Given the description of an element on the screen output the (x, y) to click on. 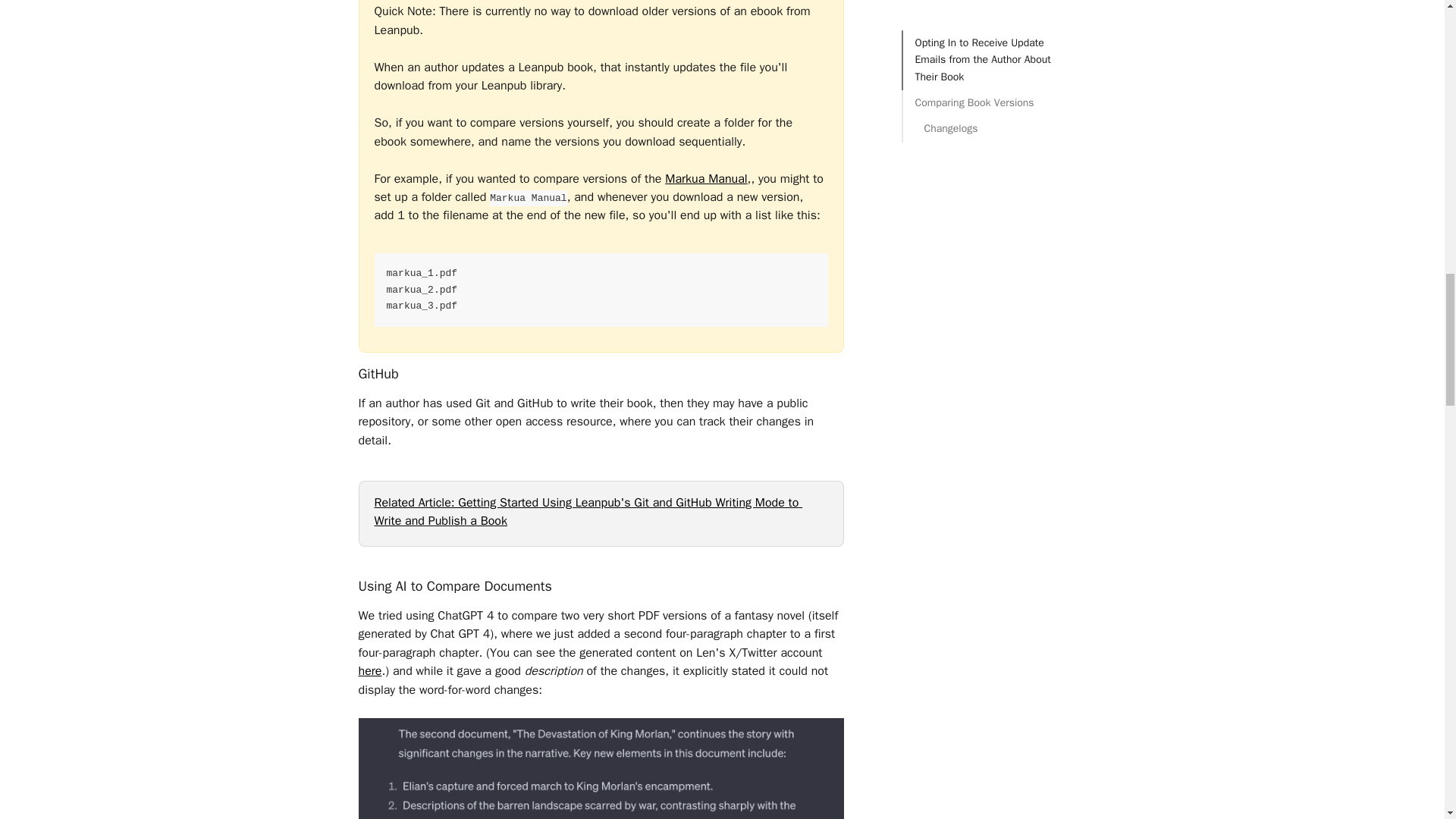
here (369, 670)
Markua Manual (705, 178)
